Given the description of an element on the screen output the (x, y) to click on. 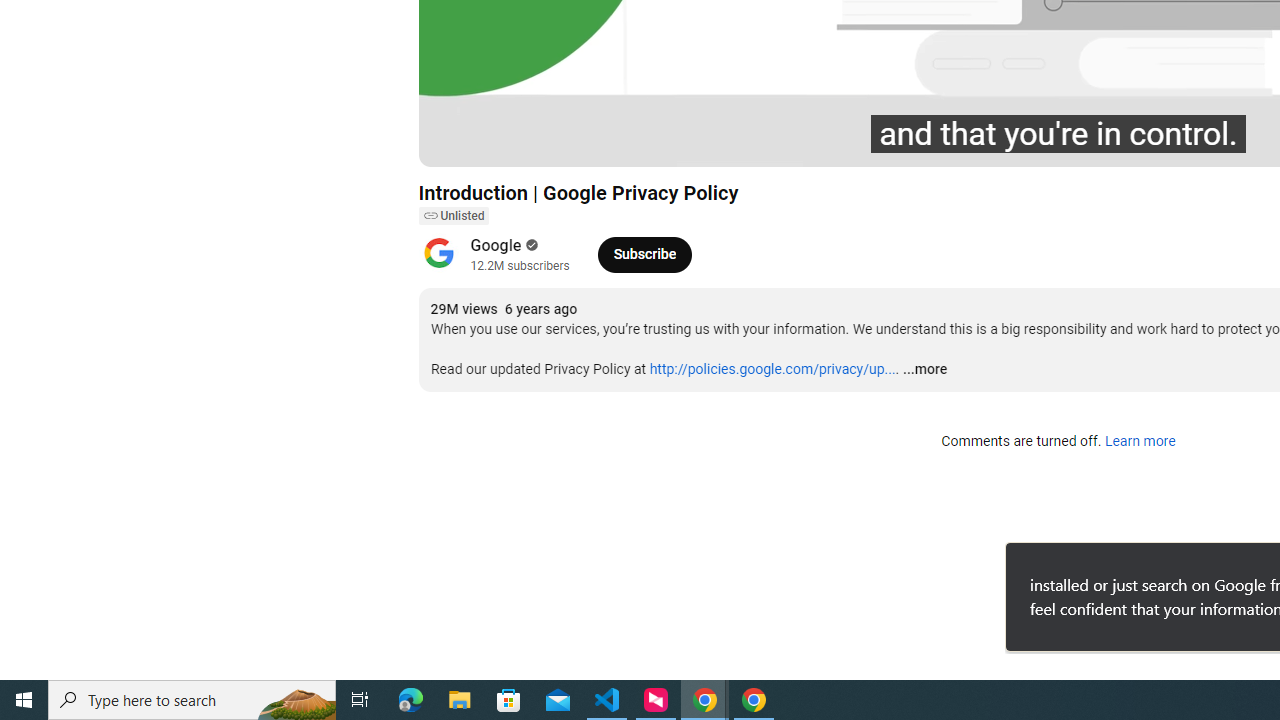
...more (924, 370)
http://policies.google.com/privacy/up... (772, 369)
Learn more (1139, 442)
Subscribe to Google. (644, 254)
Next (SHIFT+n) (500, 142)
Mute (m) (548, 142)
Pause (k) (453, 142)
Verified (530, 245)
Unlisted (453, 216)
